Given the description of an element on the screen output the (x, y) to click on. 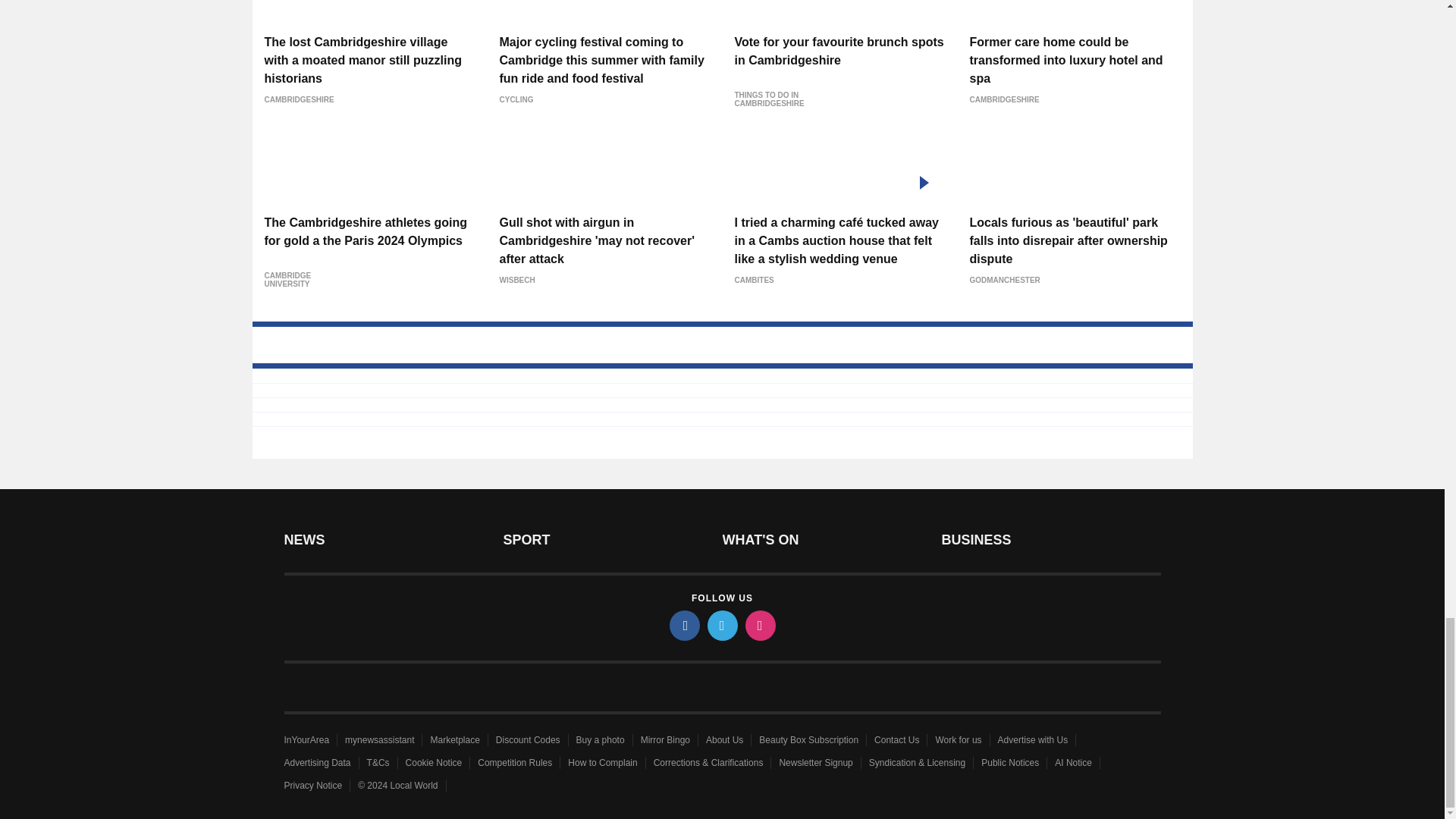
facebook (683, 625)
instagram (759, 625)
twitter (721, 625)
